Given the description of an element on the screen output the (x, y) to click on. 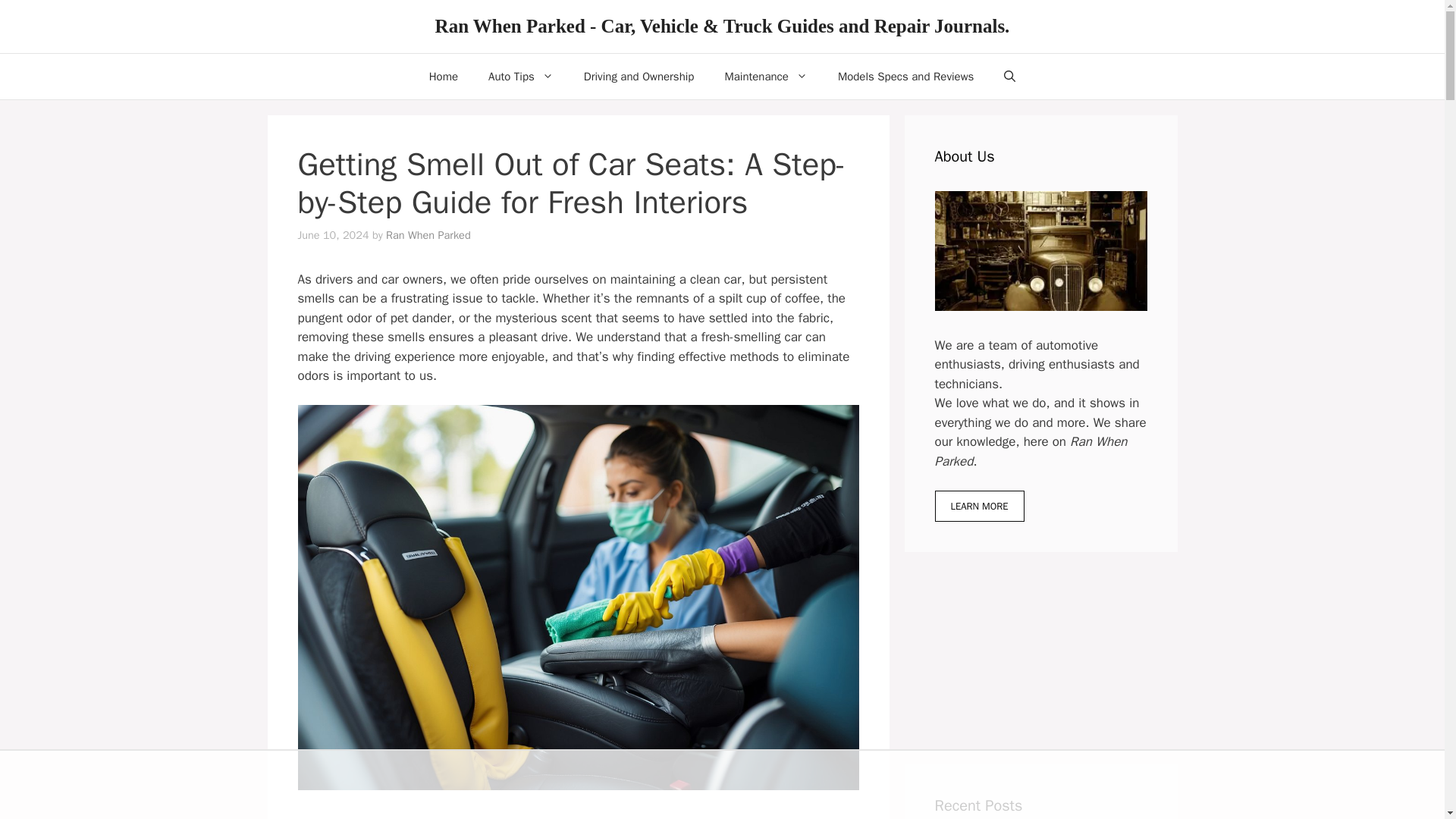
Maintenance (765, 76)
Models Specs and Reviews (905, 76)
Home (443, 76)
Ran When Parked (427, 234)
Auto Tips (521, 76)
View all posts by Ran When Parked (427, 234)
Driving and Ownership (639, 76)
